Given the description of an element on the screen output the (x, y) to click on. 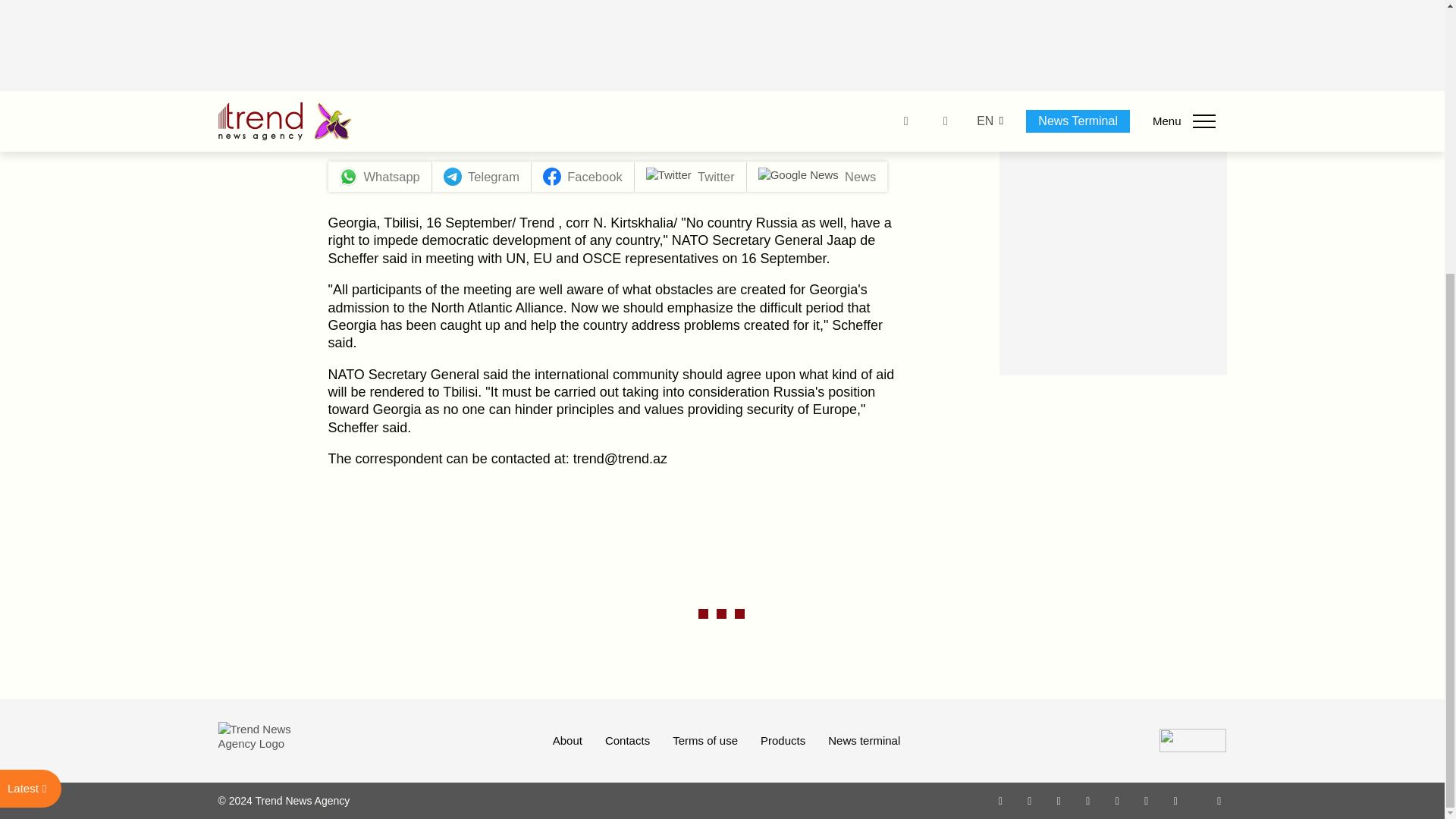
Whatsapp (1000, 800)
RSS Feed (1219, 800)
Youtube (1088, 800)
Telegram (1117, 800)
Android App (1176, 800)
Twitter (1059, 800)
Facebook (1029, 800)
LinkedIn (1146, 800)
